Given the description of an element on the screen output the (x, y) to click on. 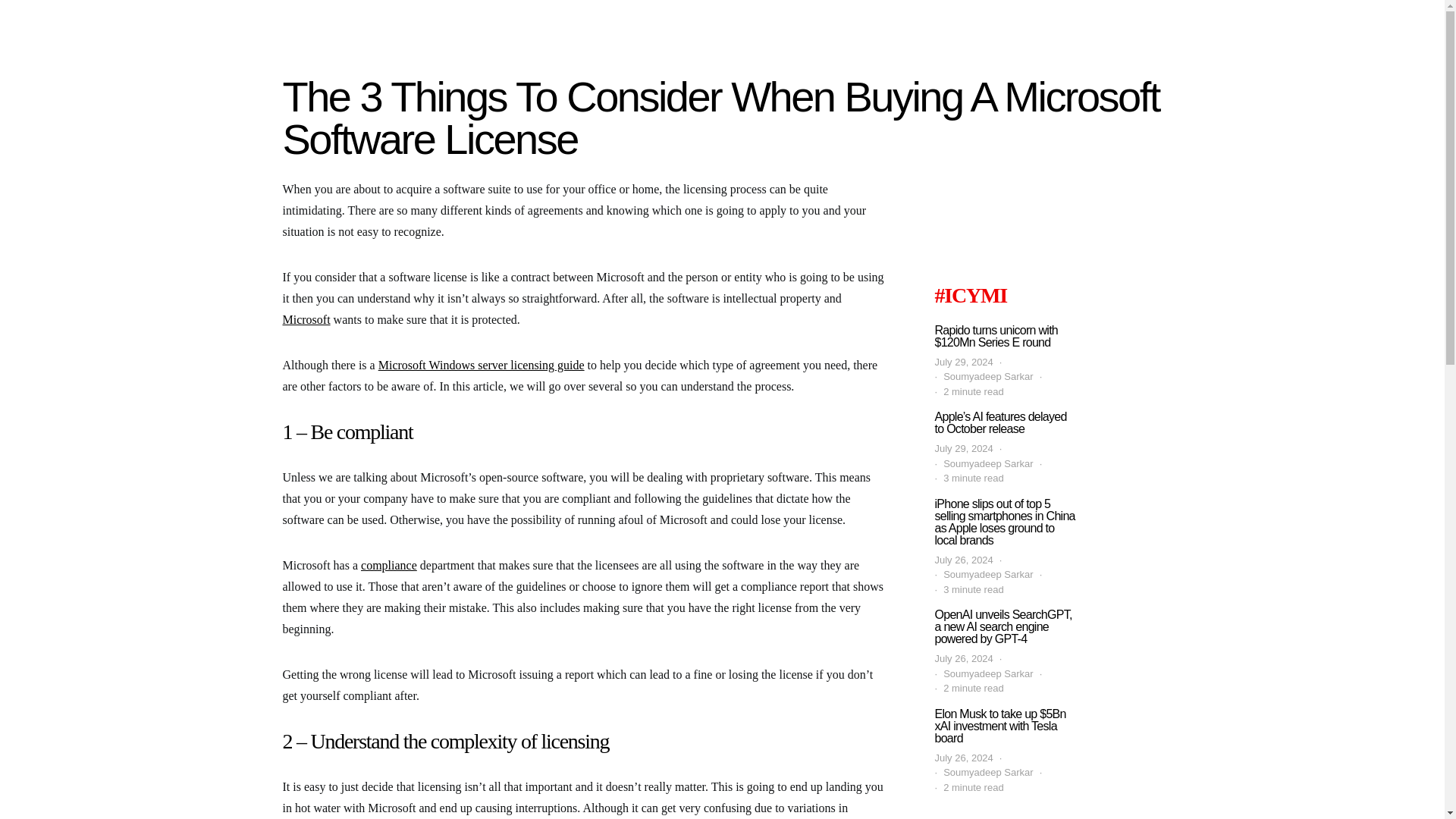
VENTURE CAPITAL (553, 67)
SPACE (654, 67)
GADGETRY (804, 22)
BUSINESS (551, 22)
CULTURE (630, 22)
July 29, 2024 (963, 362)
STARTUPS (977, 22)
compliance (388, 564)
View all posts by Soumyadeep Sarkar (988, 574)
View all posts by Soumyadeep Sarkar (988, 376)
FUTURISM (712, 22)
Soumyadeep Sarkar (988, 376)
View all posts by Soumyadeep Sarkar (988, 772)
Microsoft Windows server licensing guide (481, 364)
INTERNET (895, 22)
